Given the description of an element on the screen output the (x, y) to click on. 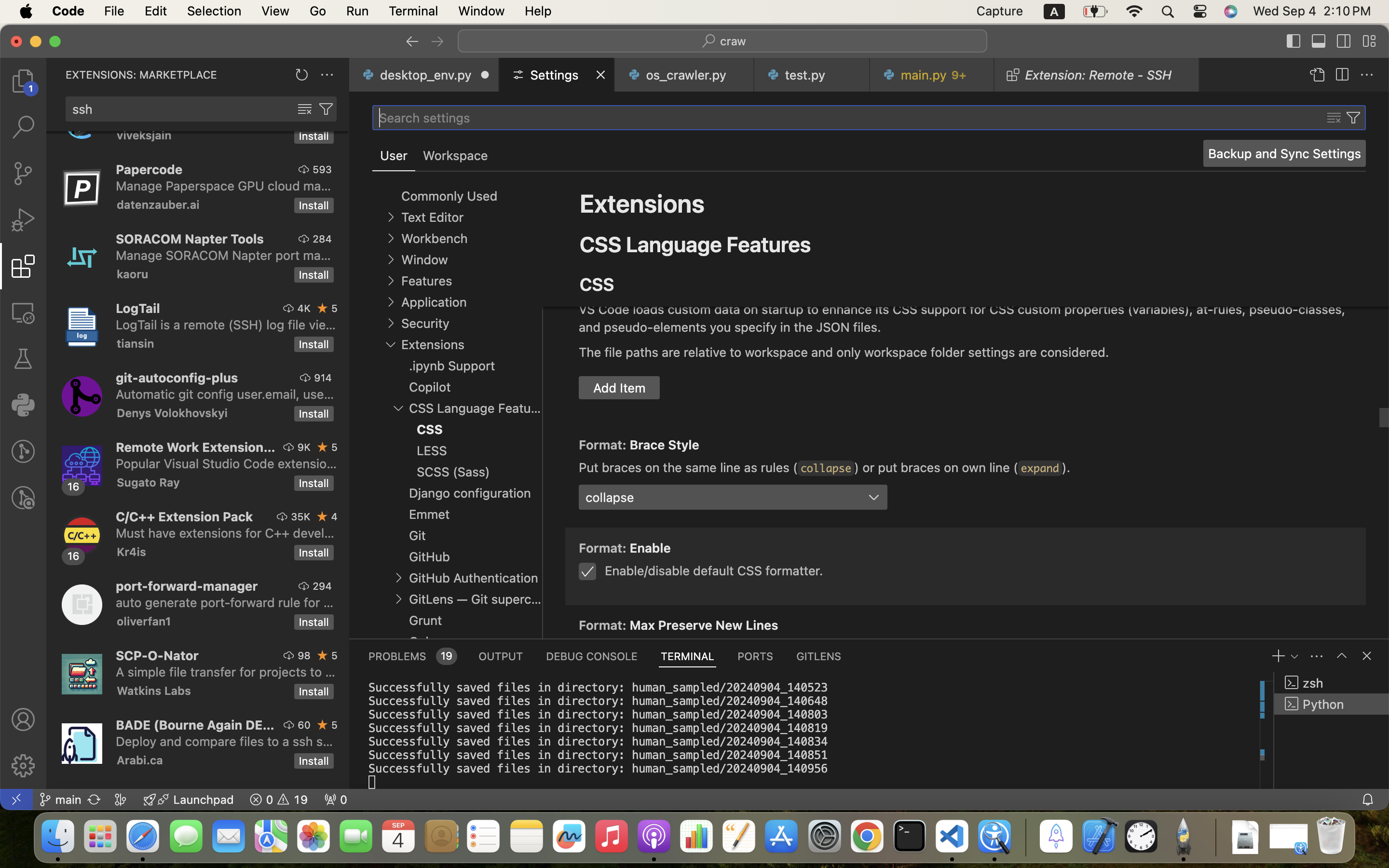
0 OUTPUT Element type: AXRadioButton (500, 655)
Sugato Ray Element type: AXStaticText (148, 481)
19  0  Element type: AXButton (278, 799)
Put braces on the same line as rules ( Element type: AXStaticText (687, 467)
collapse Element type: AXStaticText (825, 468)
